Given the description of an element on the screen output the (x, y) to click on. 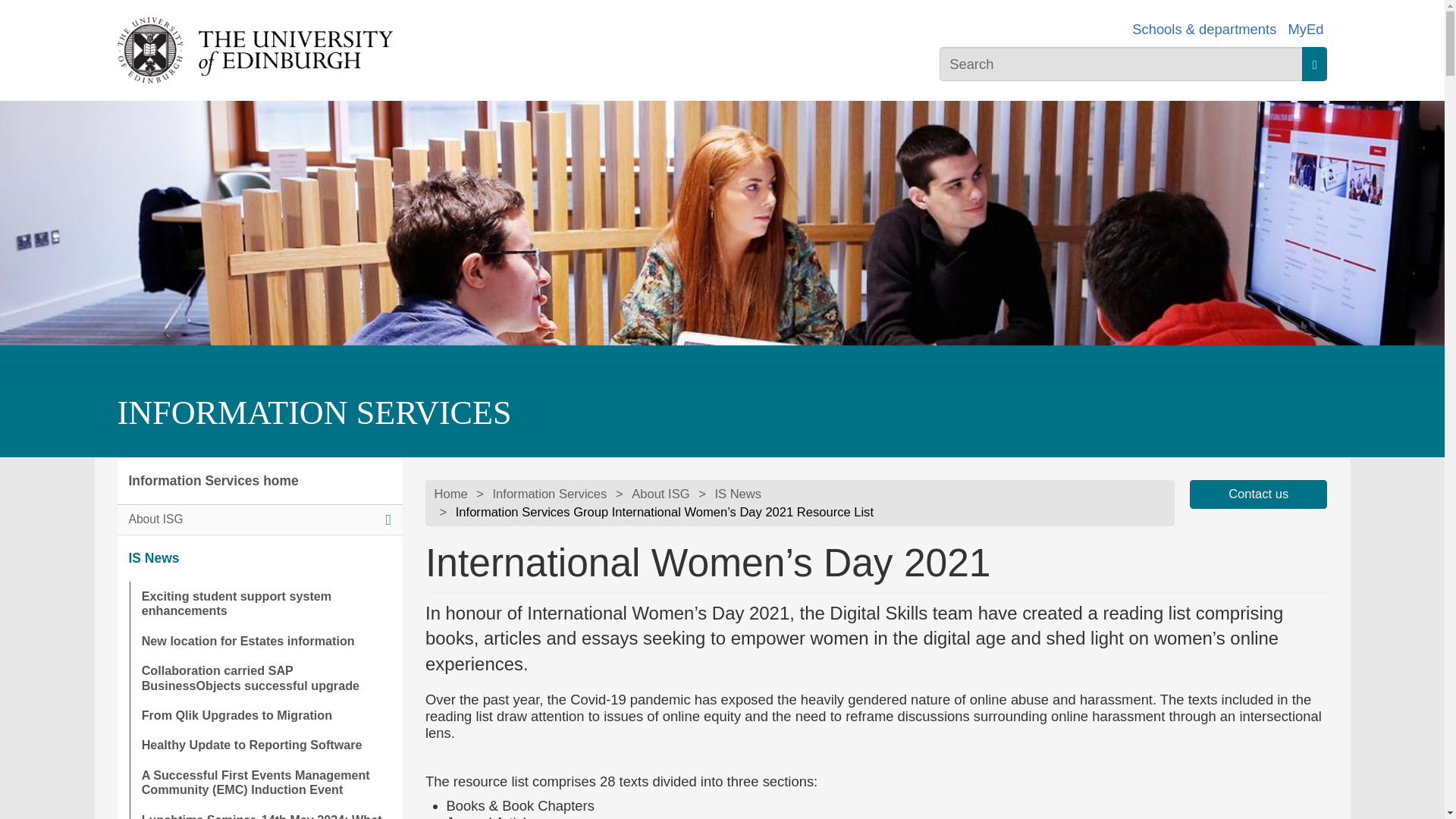
Information Services home (259, 481)
MyEd (1305, 28)
Healthy Update to Reporting Software (266, 745)
Lunchtime Seminar, 14th May 2024: What can PMO do for you? (266, 812)
Exciting student support system enhancements (266, 603)
INFORMATION SERVICES (313, 412)
Collaboration carried SAP BusinessObjects successful upgrade (266, 678)
IS News (259, 558)
New location for Estates information (266, 641)
From Qlik Upgrades to Migration (266, 715)
